Given the description of an element on the screen output the (x, y) to click on. 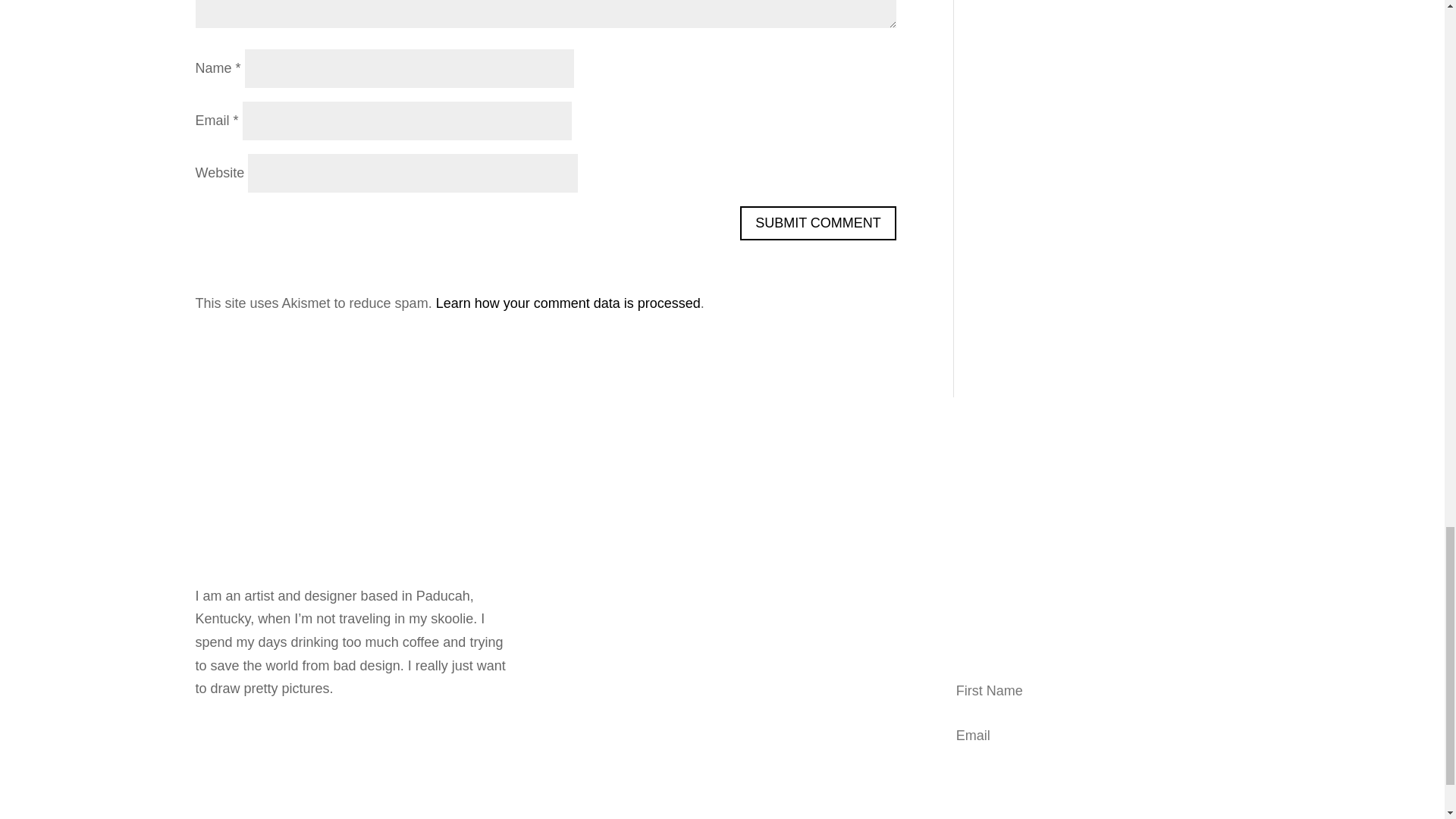
Submit Comment (817, 223)
Learn how your comment data is processed (567, 303)
Submit Comment (817, 223)
SIGN ME UP! (1092, 775)
